Given the description of an element on the screen output the (x, y) to click on. 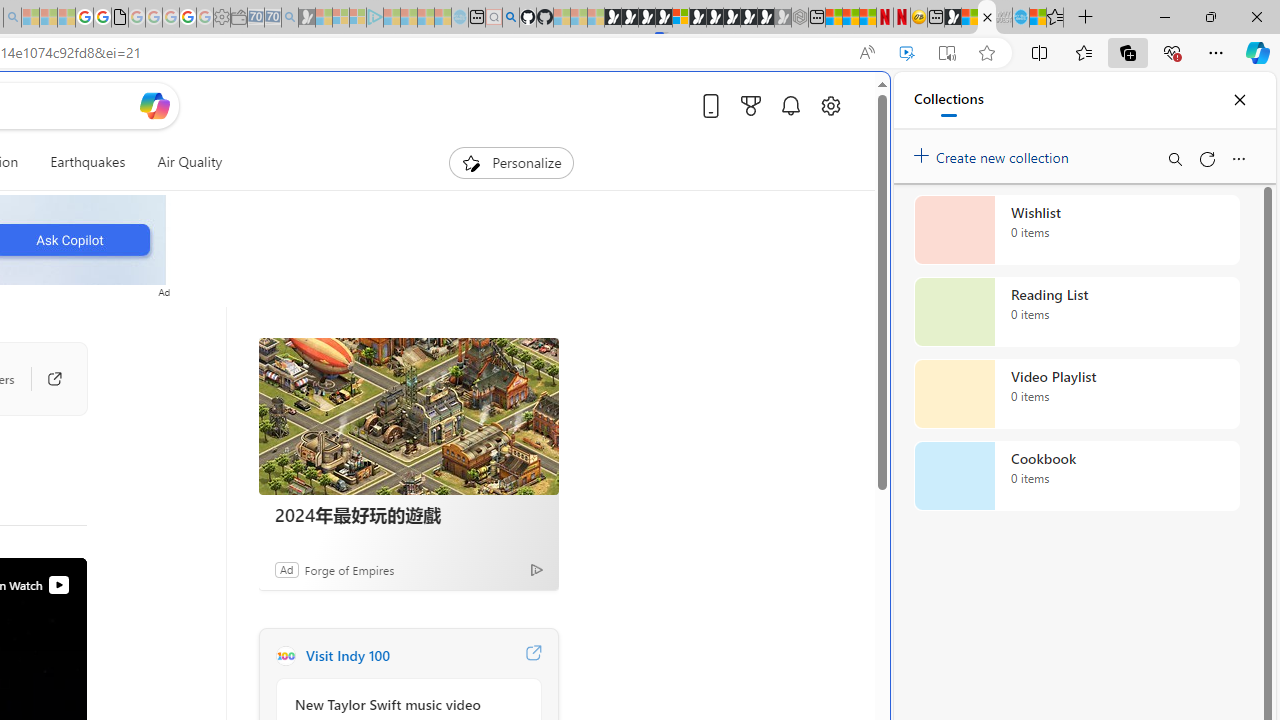
Enter Immersive Reader (F9) (946, 53)
Microsoft rewards (749, 105)
Cookbook collection, 0 items (1076, 475)
Microsoft Start Gaming - Sleeping (306, 17)
Play Cave FRVR in your browser | Games from Microsoft Start (646, 17)
Home | Sky Blue Bikes - Sky Blue Bikes - Sleeping (459, 17)
Indy 100 (285, 655)
Earthquakes (87, 162)
